Given the description of an element on the screen output the (x, y) to click on. 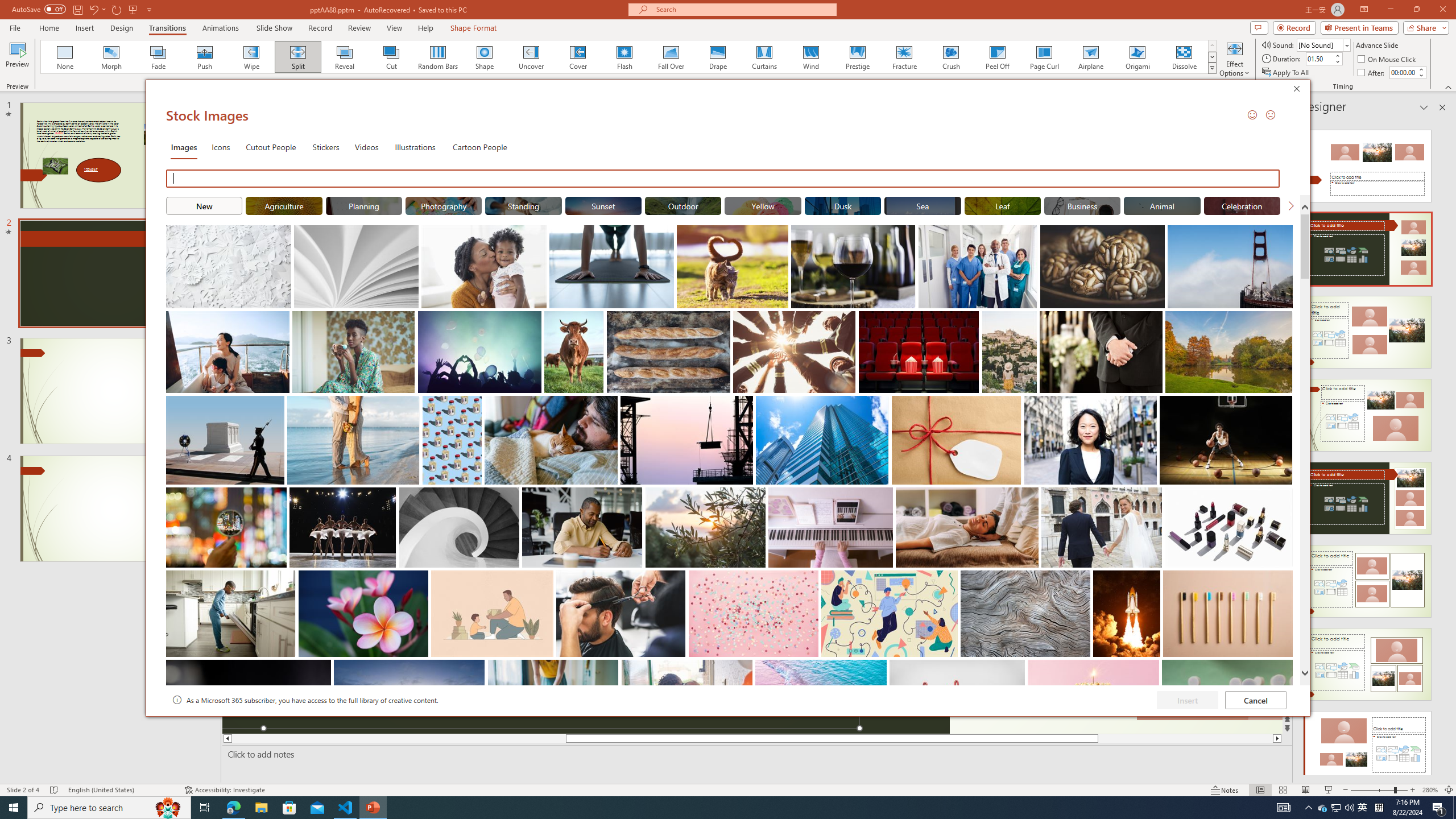
Type here to search (108, 807)
Search Stock Images (723, 178)
Curtains (764, 56)
"Outdoor" Stock Images. (682, 205)
